Given the description of an element on the screen output the (x, y) to click on. 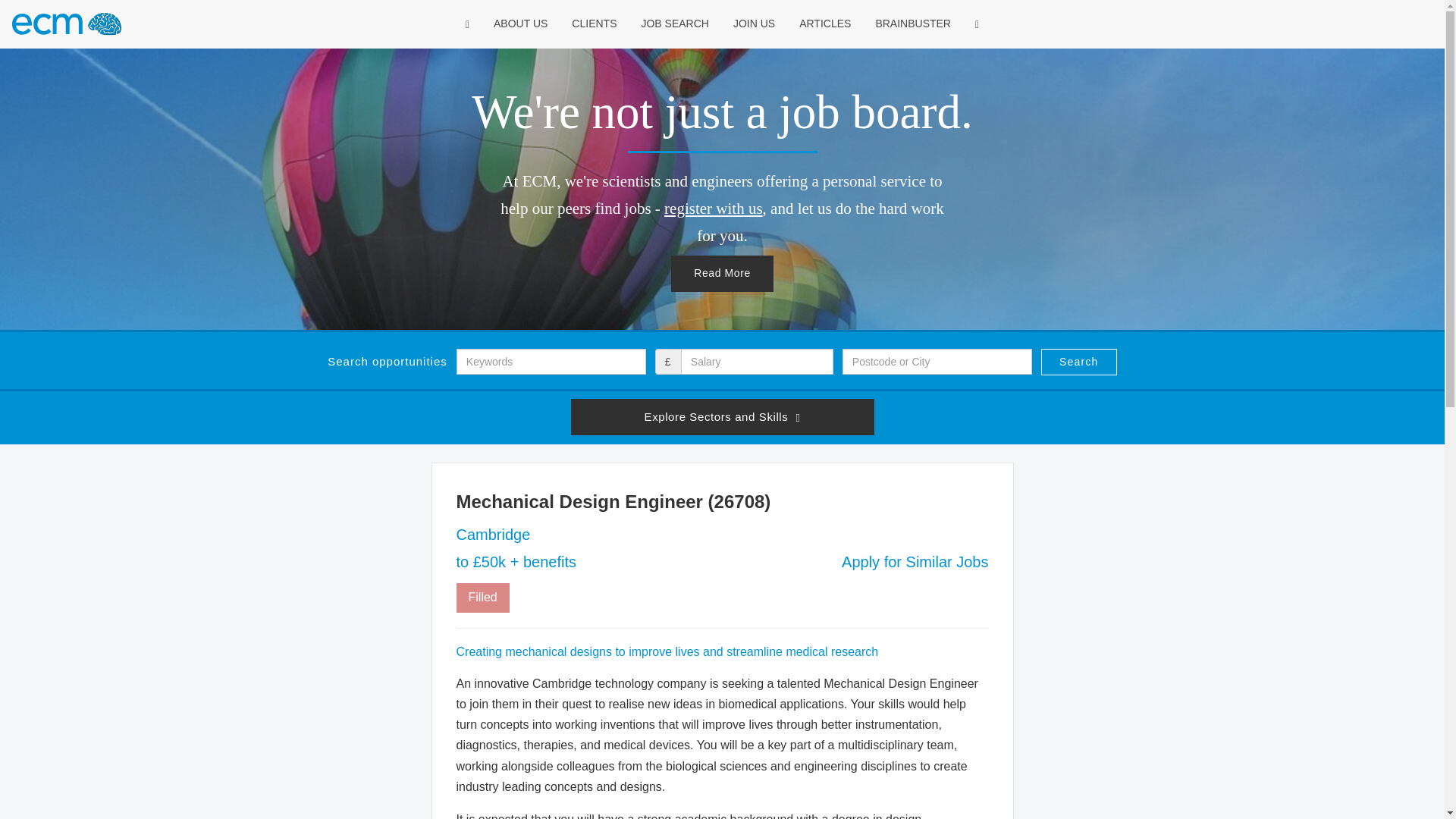
JOIN US (753, 23)
Read More (722, 273)
Search (1078, 361)
ABOUT US (520, 23)
register with us (712, 208)
JOB SEARCH (673, 23)
BRAINBUSTER (912, 23)
CLIENTS (593, 23)
ARTICLES (824, 23)
